Given the description of an element on the screen output the (x, y) to click on. 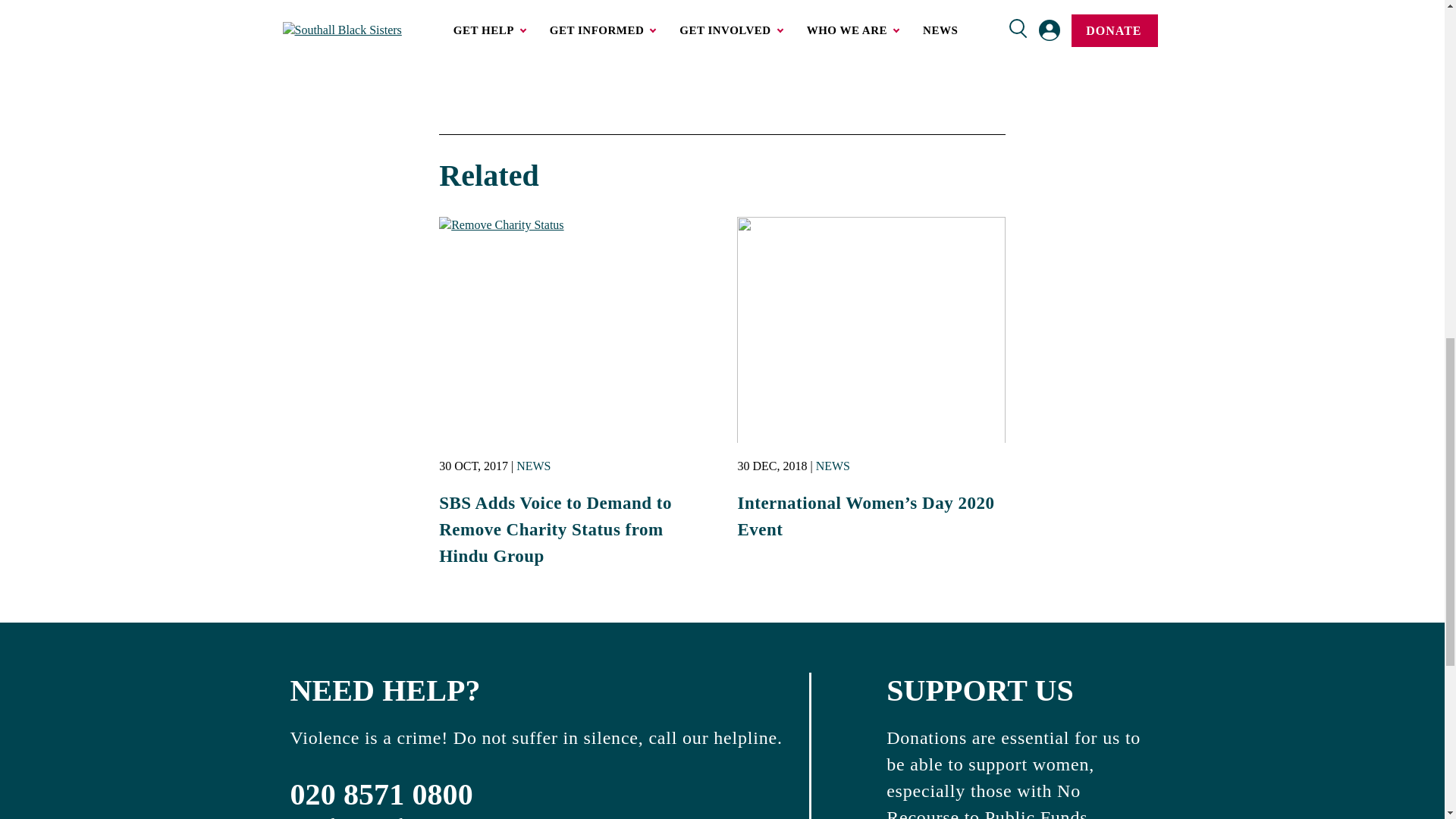
Justice Alliance (752, 1)
NEWS (533, 465)
Justice Alliance (752, 1)
